Given the description of an element on the screen output the (x, y) to click on. 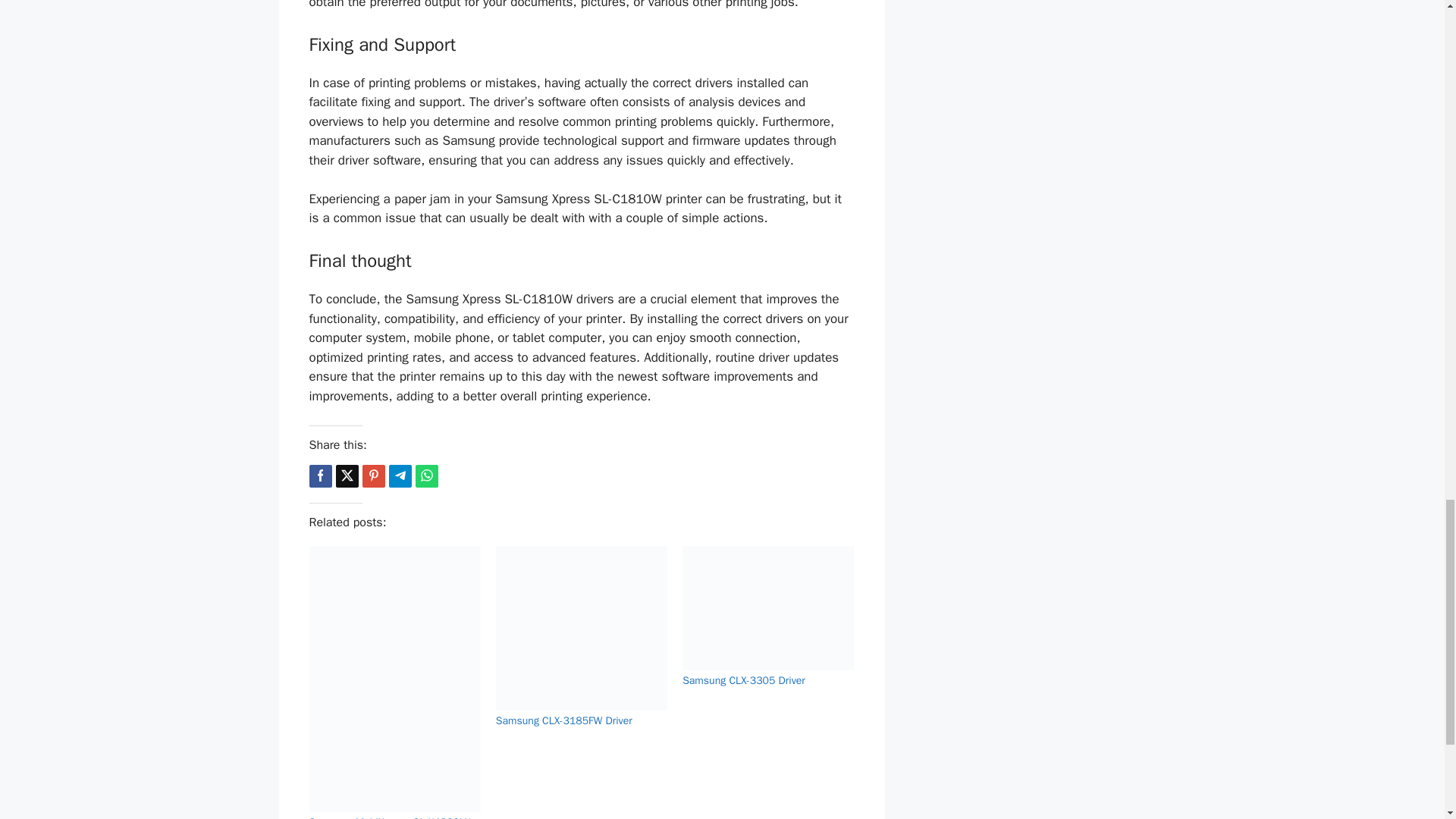
Samsung CLX-3305 Driver (743, 680)
Whatsapp (426, 476)
Samsung MultiXpress SL-X4300LX Driver (389, 817)
Samsung CLX-3185FW Driver (563, 720)
Pin this (373, 476)
Tweet this (346, 476)
Share this (319, 476)
Telegram Share (399, 476)
